Given the description of an element on the screen output the (x, y) to click on. 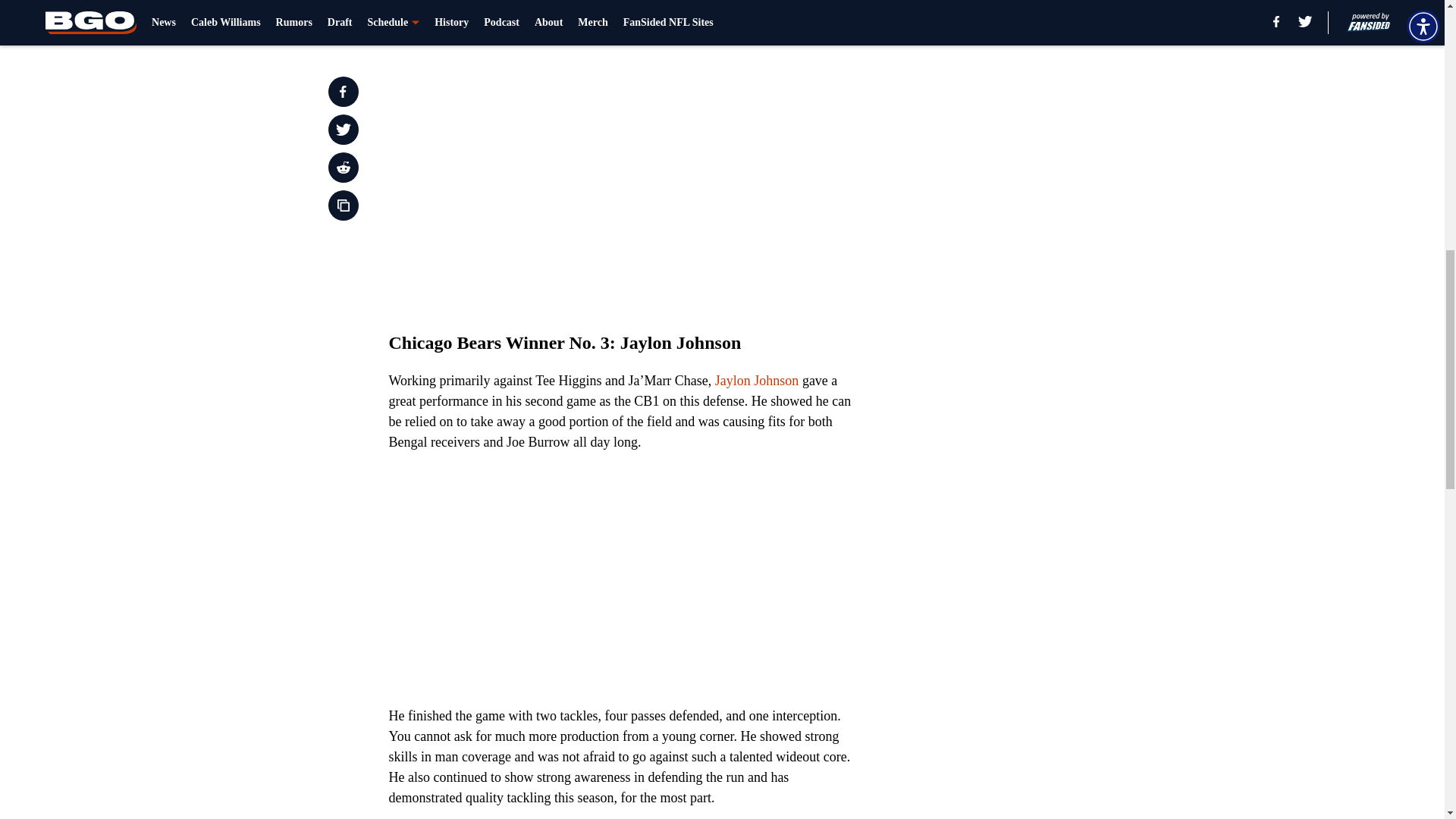
Prev (433, 20)
Next (813, 20)
Jaylon Johnson (756, 380)
